Given the description of an element on the screen output the (x, y) to click on. 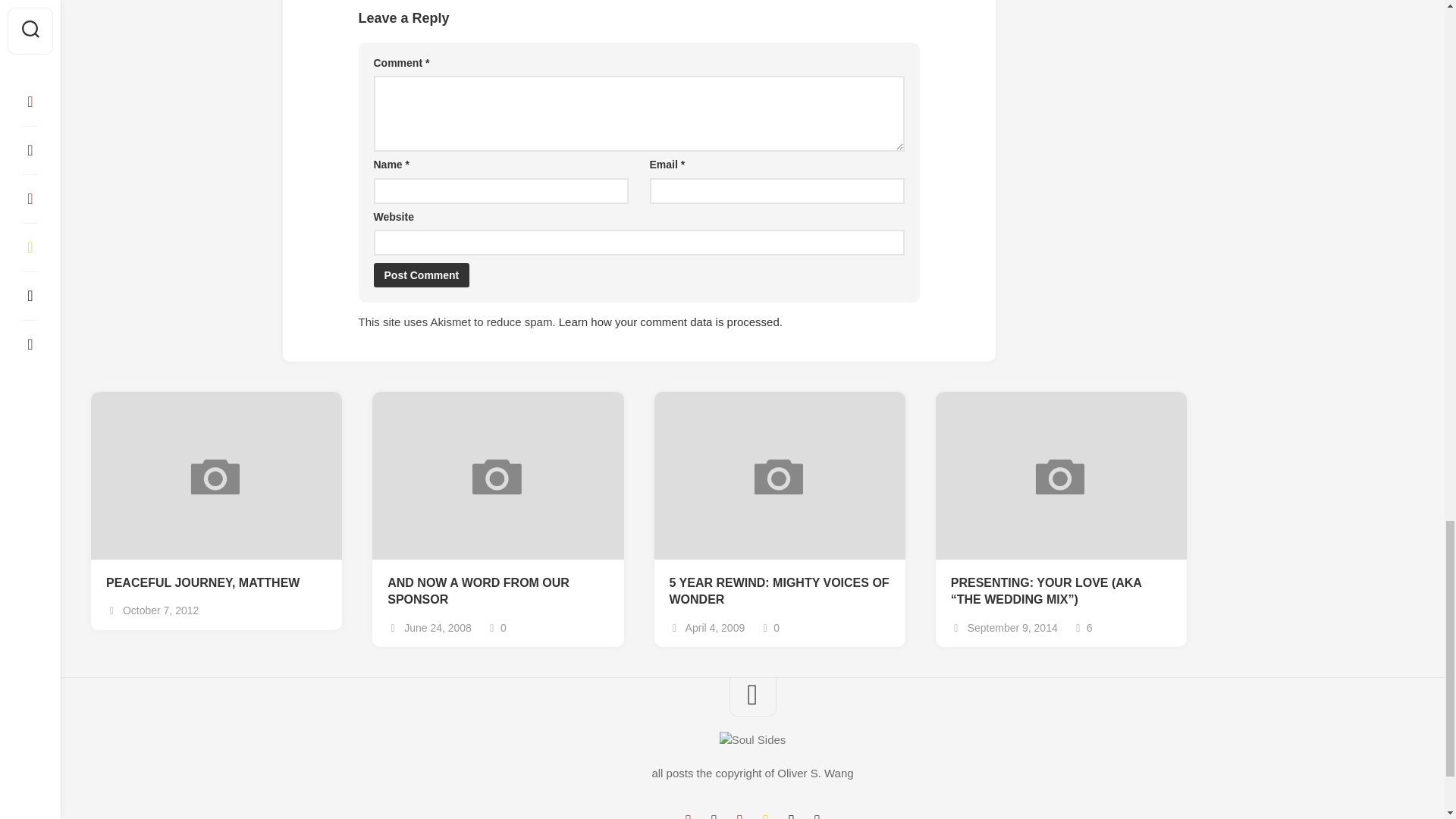
Learn how your comment data is processed (668, 321)
0 (496, 627)
5 YEAR REWIND: MIGHTY VOICES OF WONDER (778, 591)
summer songs (765, 816)
publication portfolio (791, 816)
discogs store (816, 816)
Post Comment (420, 274)
0 (769, 627)
AND NOW A WORD FROM OUR SPONSOR (497, 591)
PEACEFUL JOURNEY, MATTHEW (216, 583)
Post Comment (420, 274)
instagram (739, 816)
6 (1083, 627)
